Given the description of an element on the screen output the (x, y) to click on. 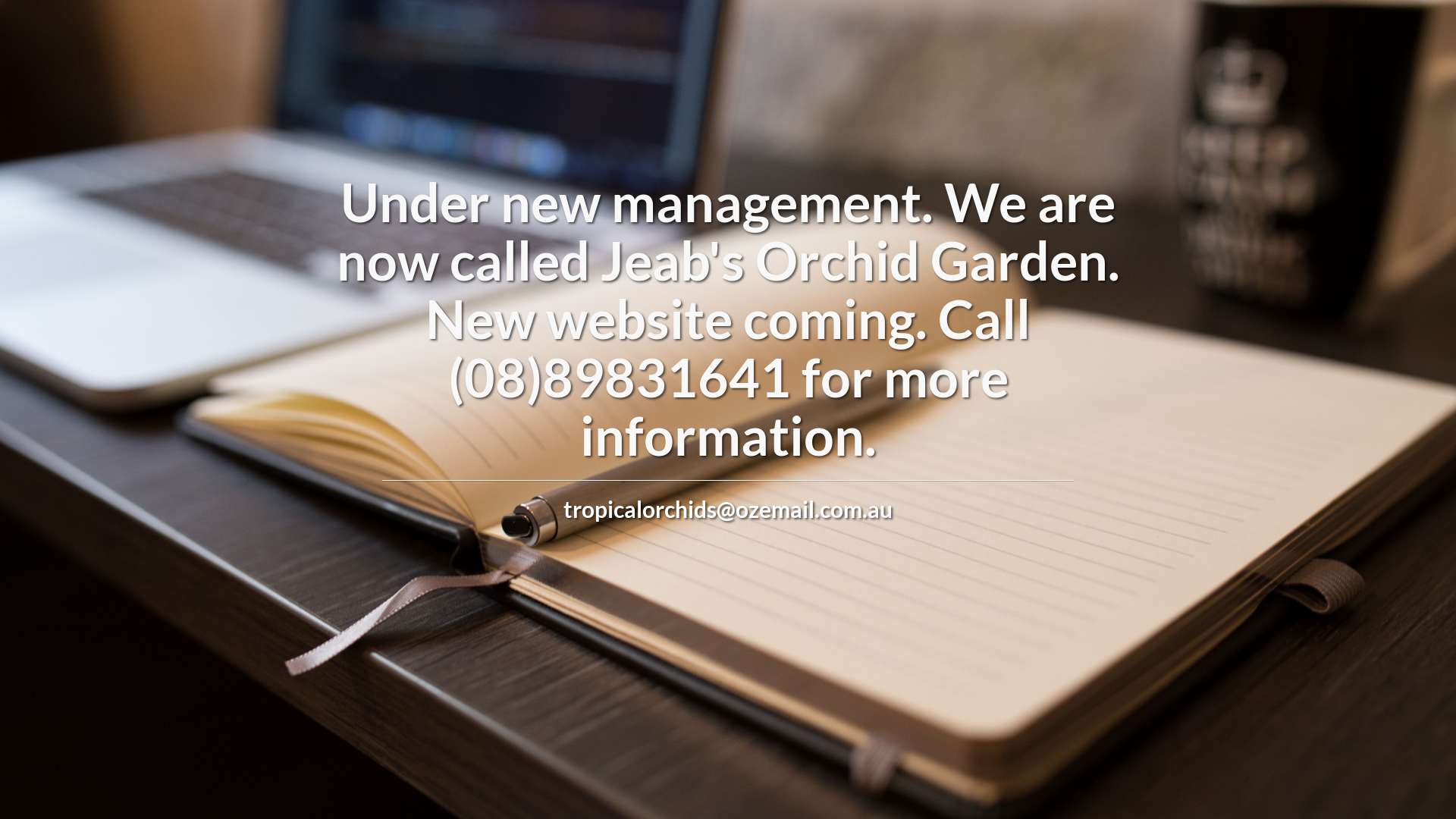
tropicalorchids@ozemail.com.au Element type: text (727, 508)
